Given the description of an element on the screen output the (x, y) to click on. 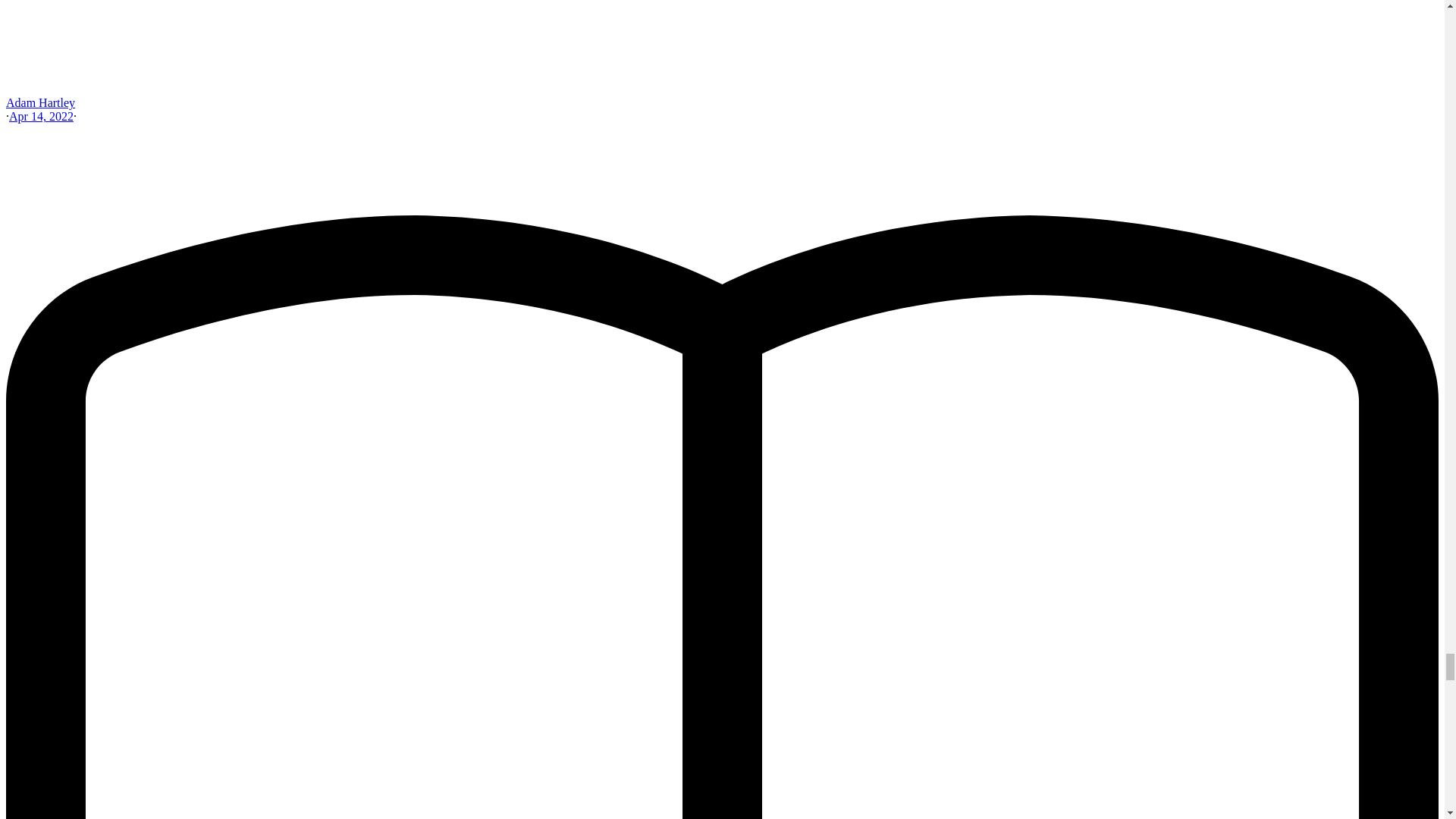
Apr 14, 2022 (41, 115)
Adam Hartley (40, 102)
